Given the description of an element on the screen output the (x, y) to click on. 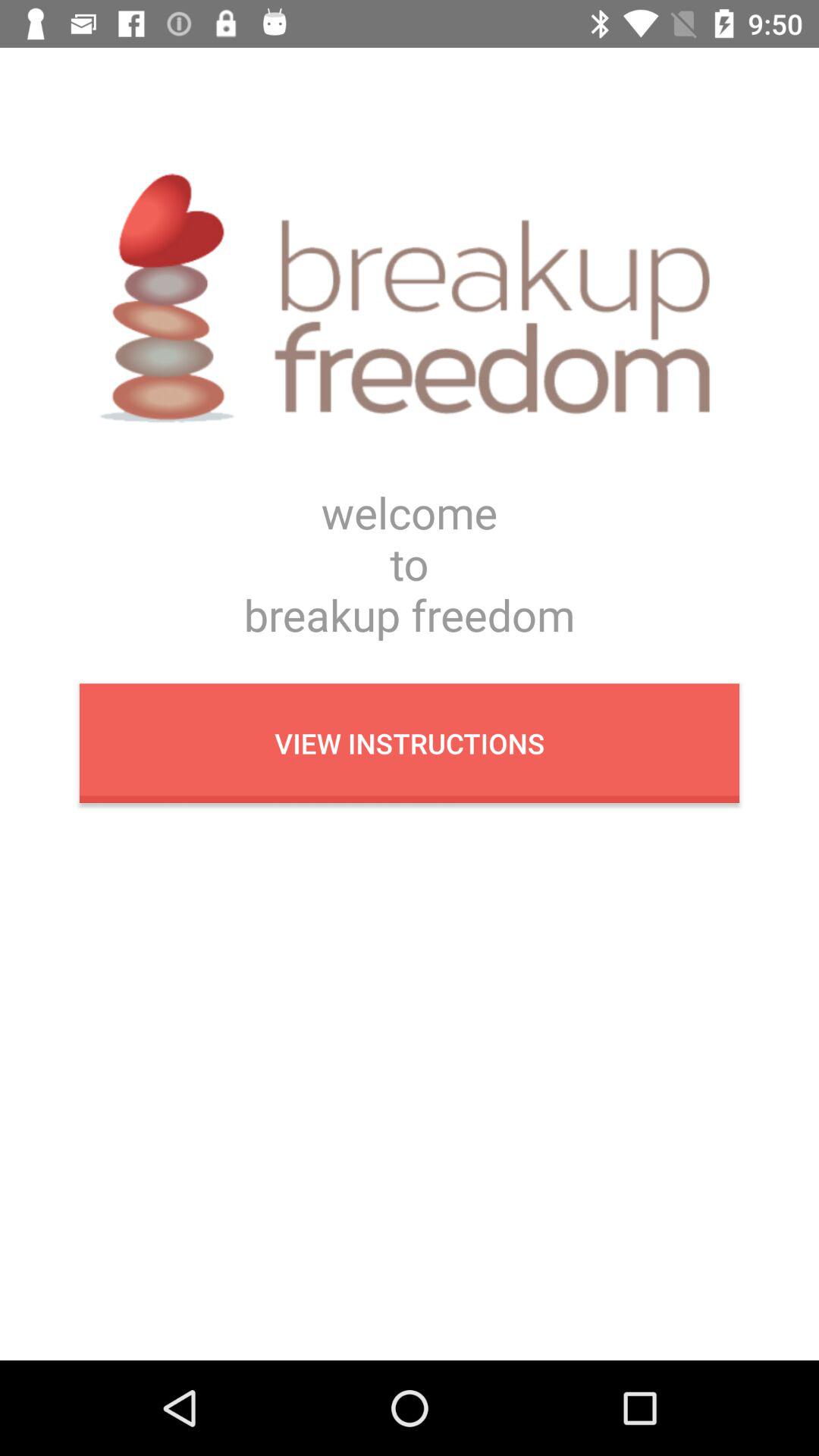
click view instructions (409, 743)
